Given the description of an element on the screen output the (x, y) to click on. 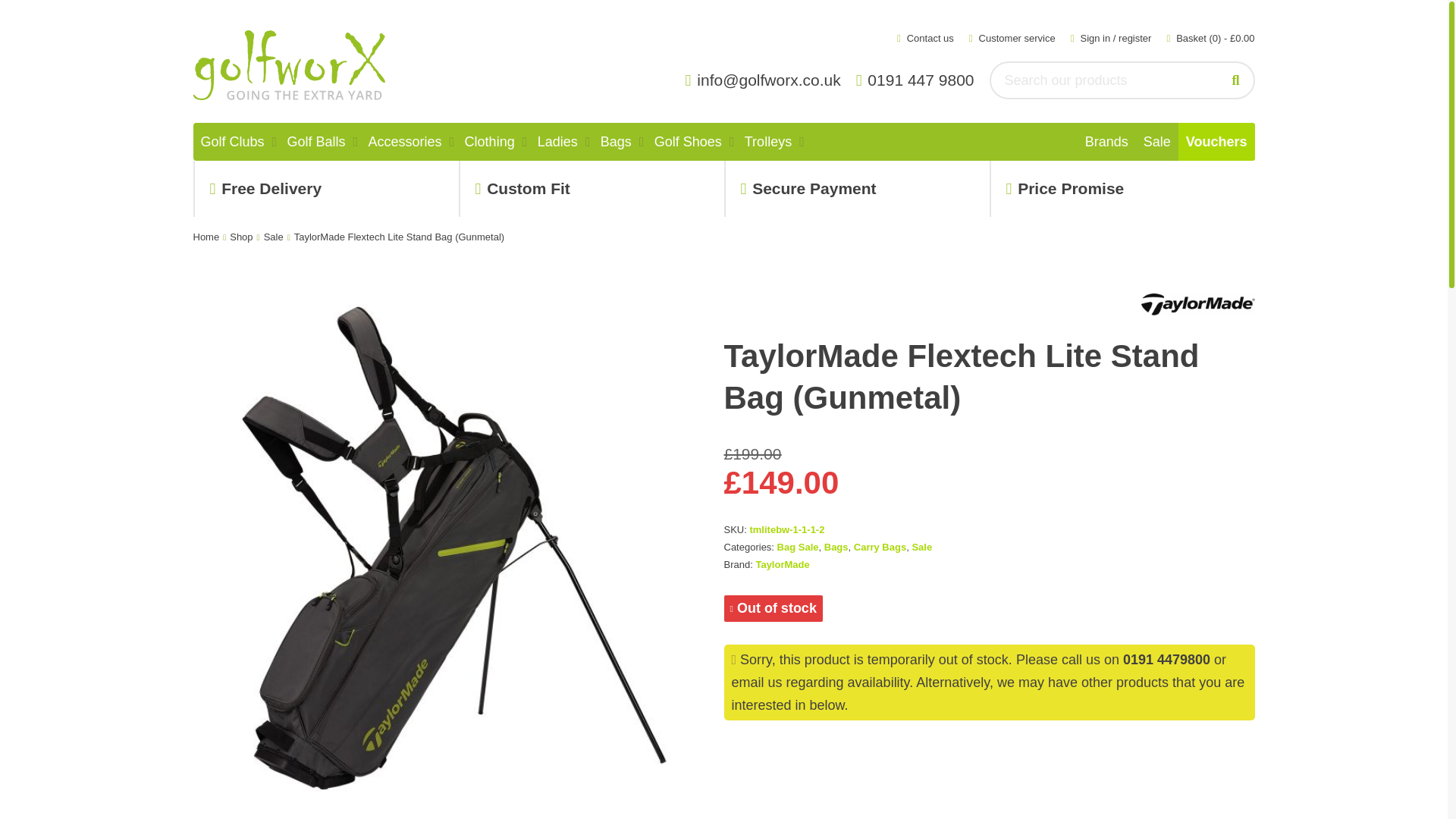
0191 447 9800 (919, 80)
contact us regarding availability (755, 682)
Contact us (924, 37)
Golf Clubs (231, 141)
Accessories (405, 141)
Customer service (1011, 37)
Golf Balls (316, 141)
